Given the description of an element on the screen output the (x, y) to click on. 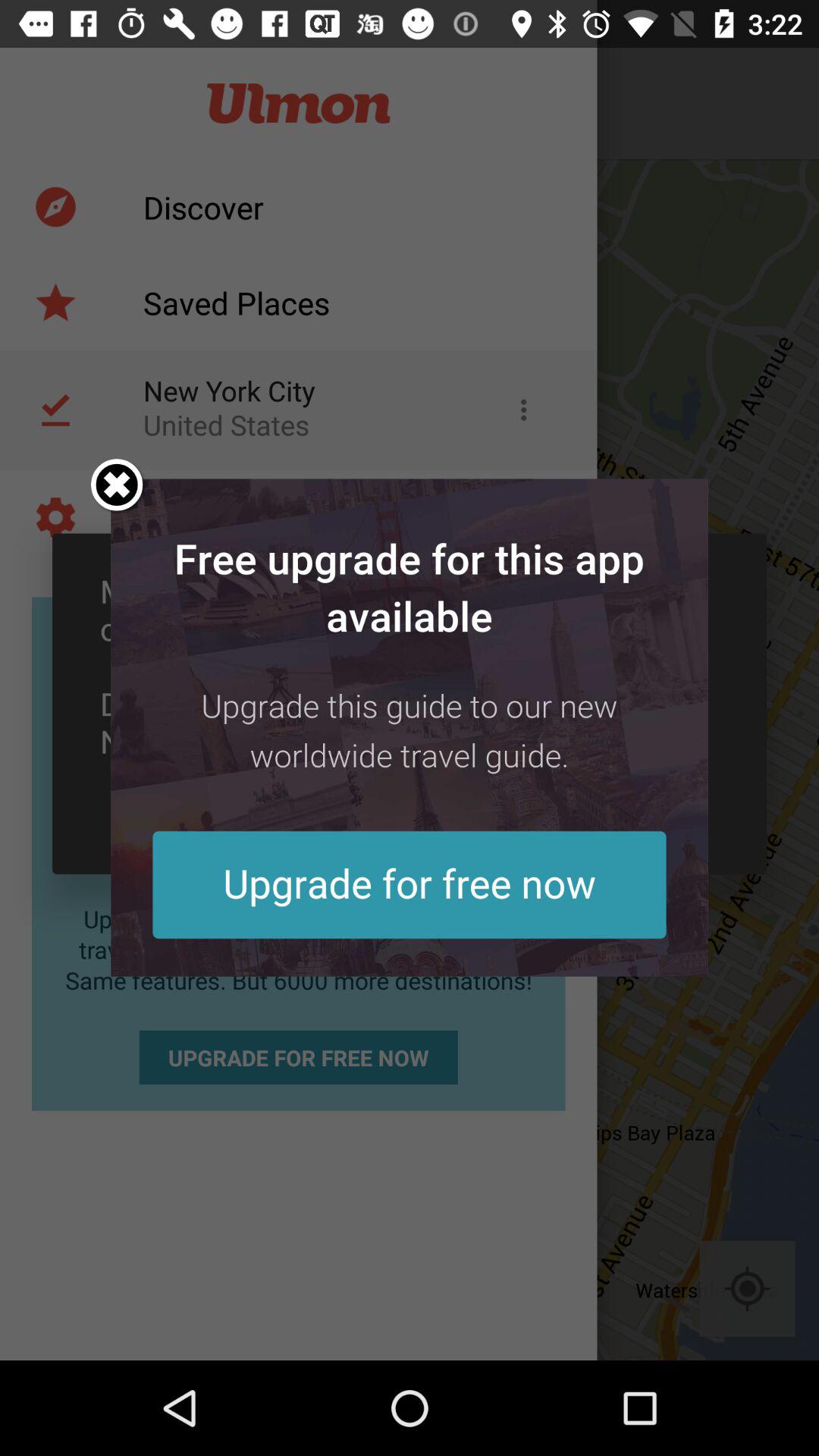
advertisement for free app upgrade (409, 727)
